Given the description of an element on the screen output the (x, y) to click on. 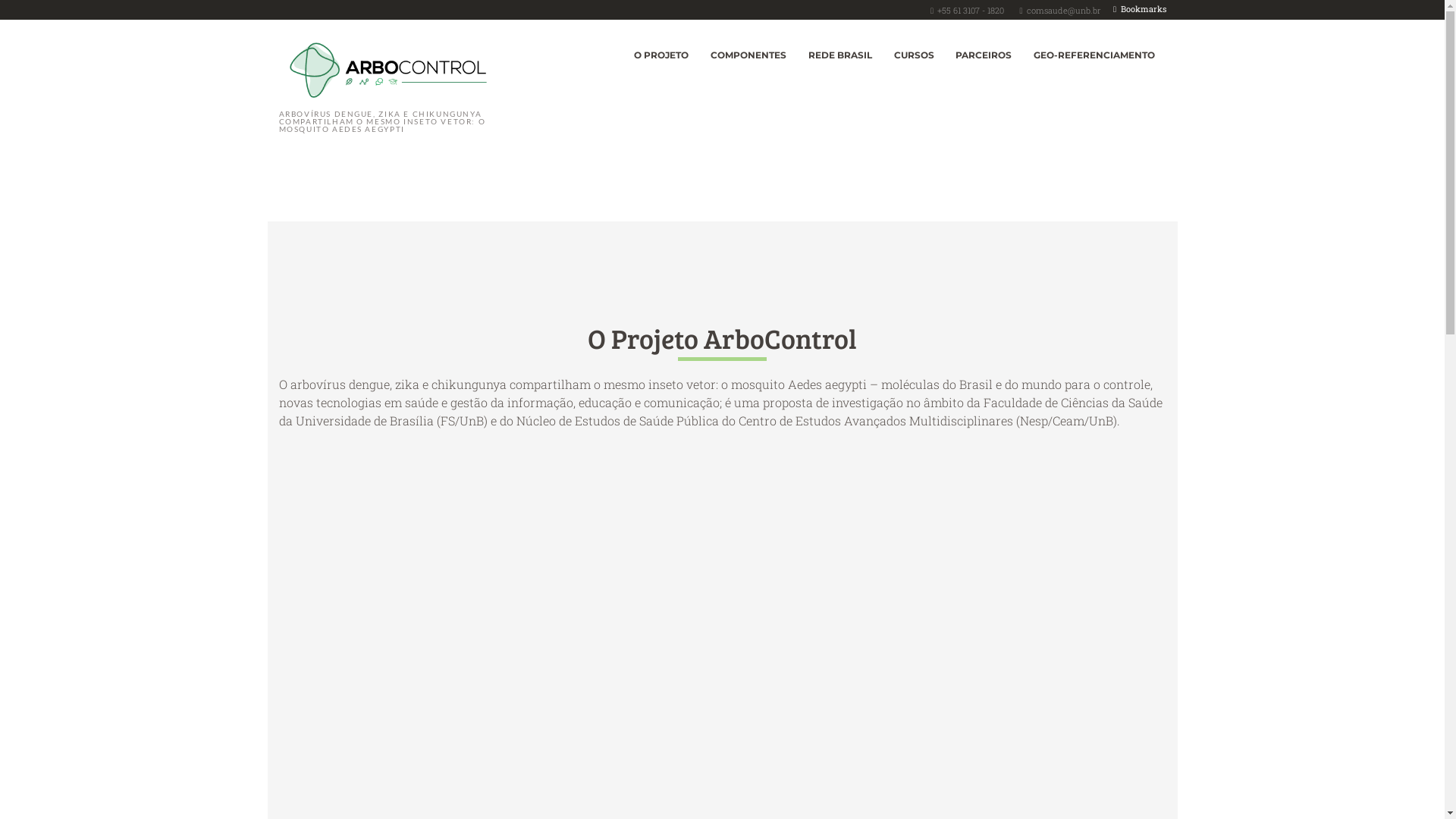
Bookmarks Element type: text (1139, 9)
REDE BRASIL Element type: text (839, 55)
O PROJETO Element type: text (661, 55)
PARCEIROS Element type: text (983, 55)
comsaude@unb.br Element type: text (1063, 9)
+55 61 3107 - 1820 Element type: text (970, 9)
COMPONENTES Element type: text (748, 55)
GEO-REFERENCIAMENTO Element type: text (1094, 55)
CURSOS Element type: text (913, 55)
